Given the description of an element on the screen output the (x, y) to click on. 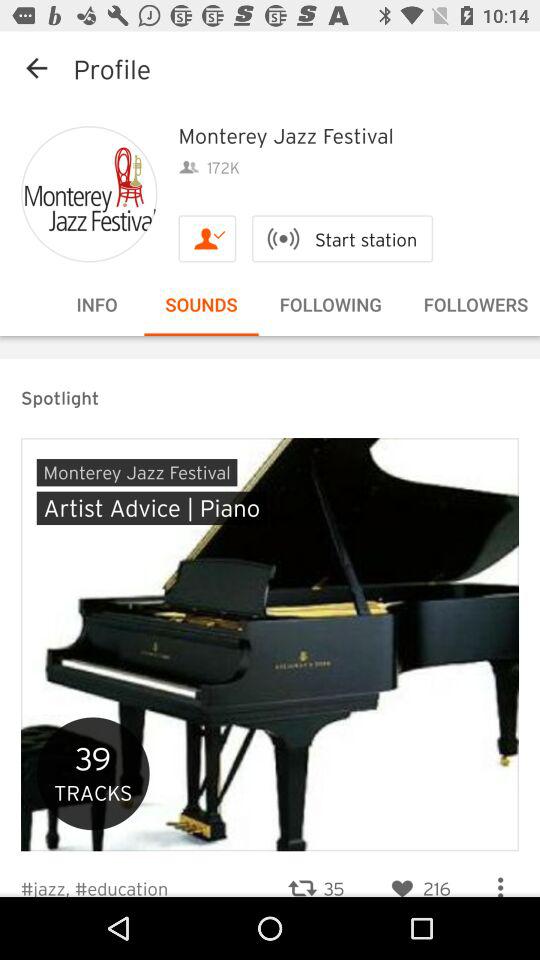
follow the user (207, 238)
